Given the description of an element on the screen output the (x, y) to click on. 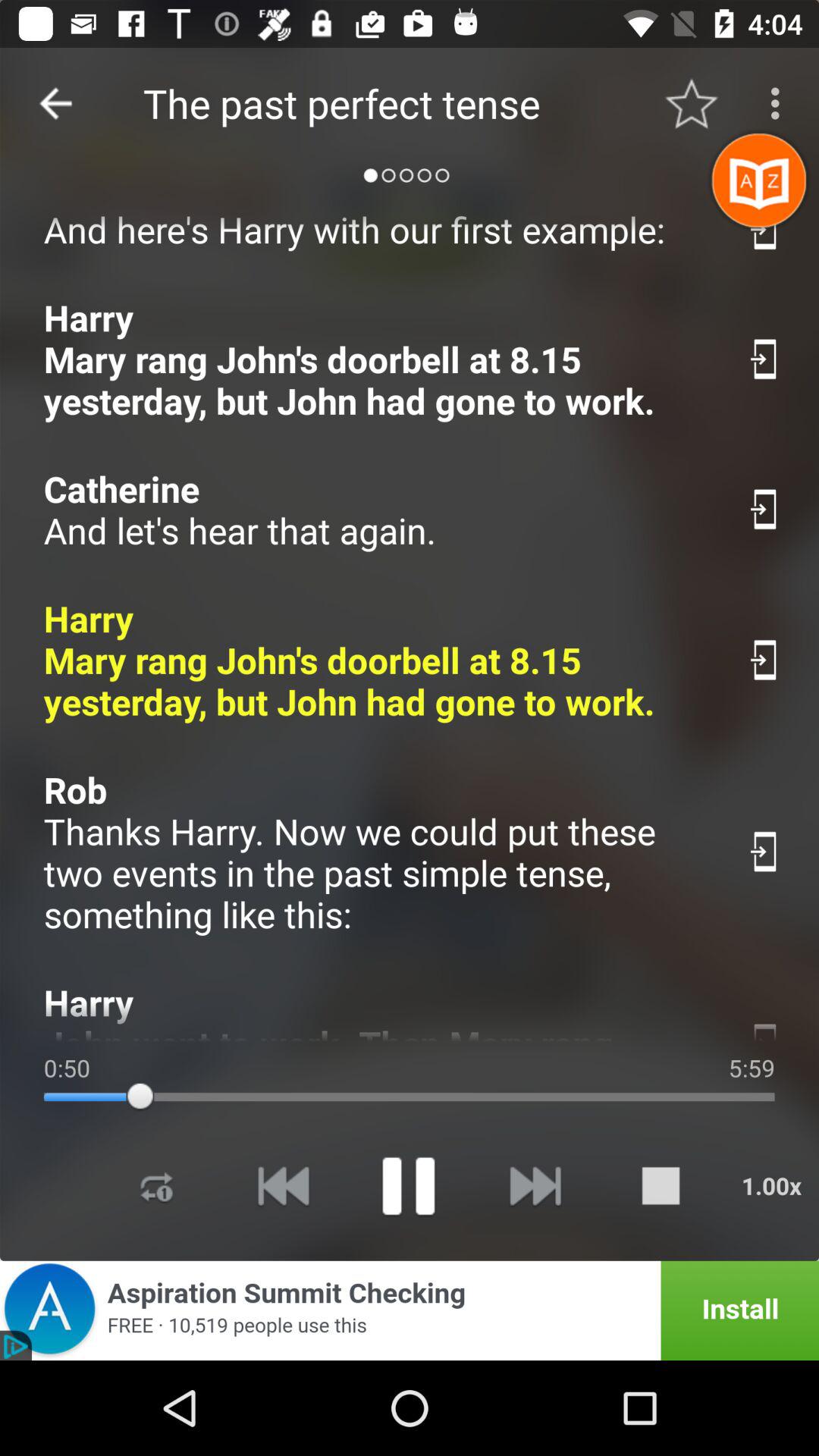
jump to the rob thanks harry (379, 851)
